Given the description of an element on the screen output the (x, y) to click on. 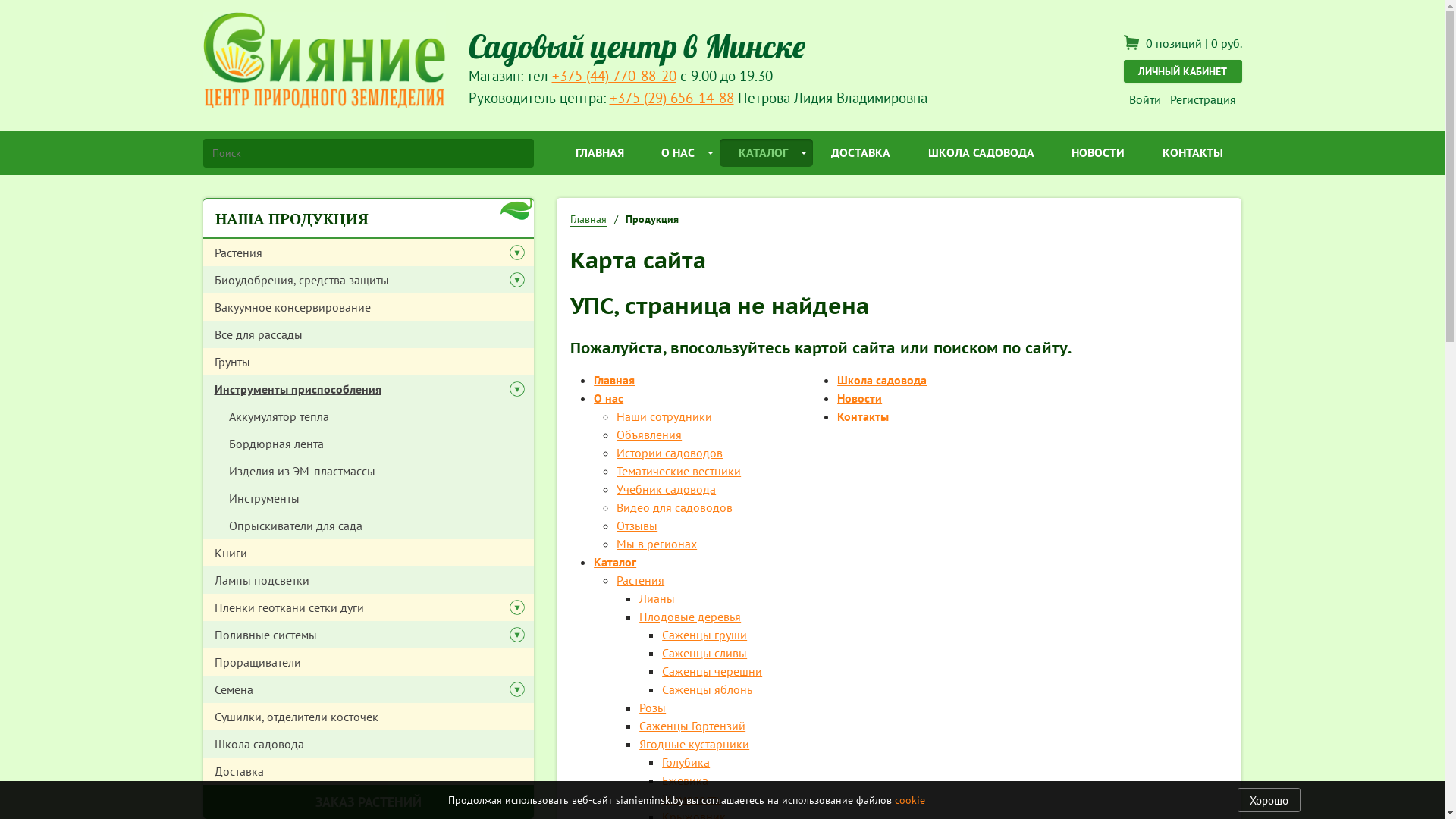
cookie Element type: text (909, 799)
+375 (44) 770-88-20 Element type: text (614, 74)
+375 (29) 656-14-88 Element type: text (671, 96)
